Given the description of an element on the screen output the (x, y) to click on. 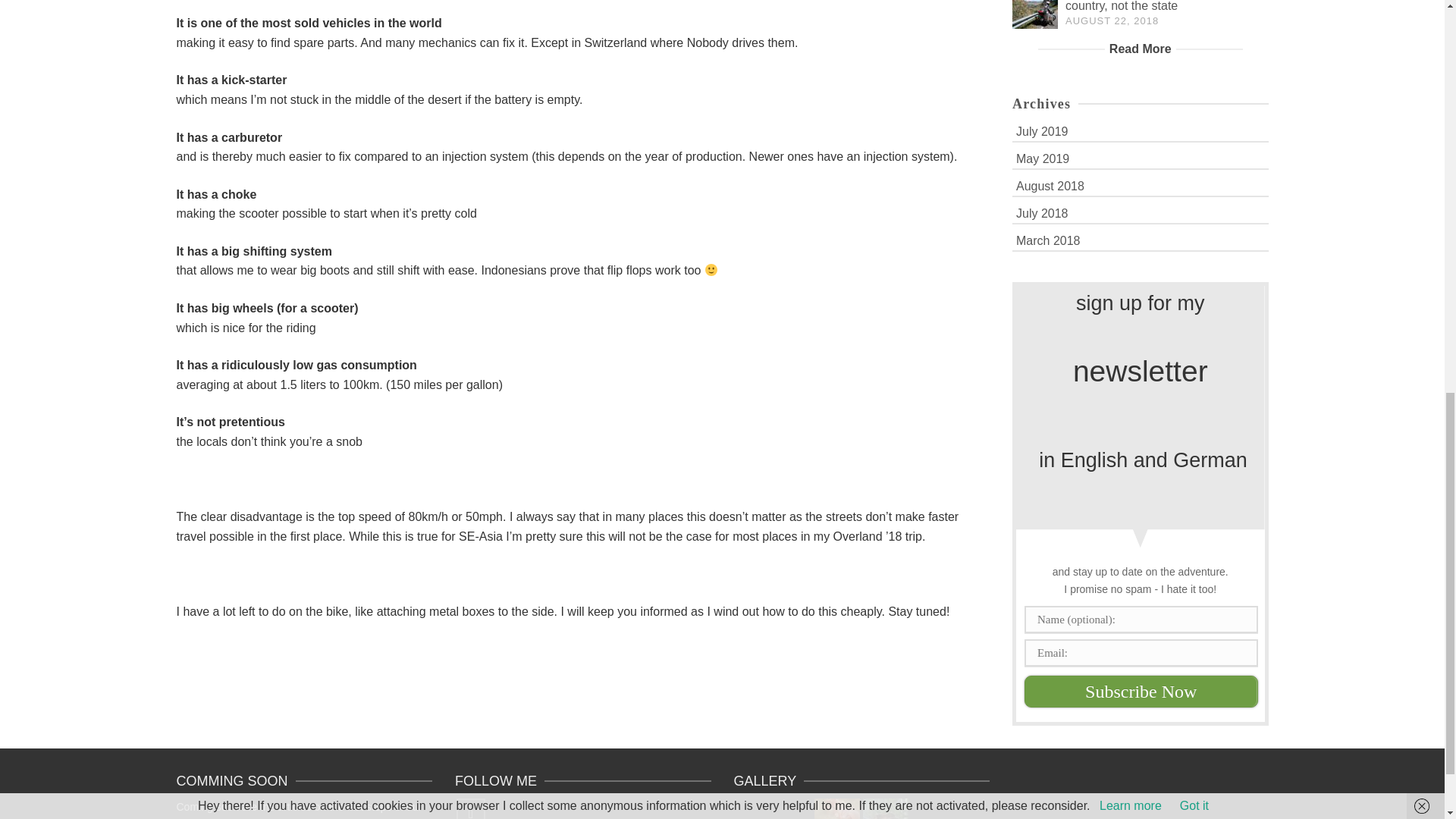
USA West (885, 808)
Lembeh Strait (836, 808)
Read More (1139, 49)
Subscribe Now (1141, 691)
July 2018 (1139, 212)
March 2018 (1139, 239)
August 2018 (1139, 185)
July 2019 (1139, 130)
May 2019 (1139, 157)
